Given the description of an element on the screen output the (x, y) to click on. 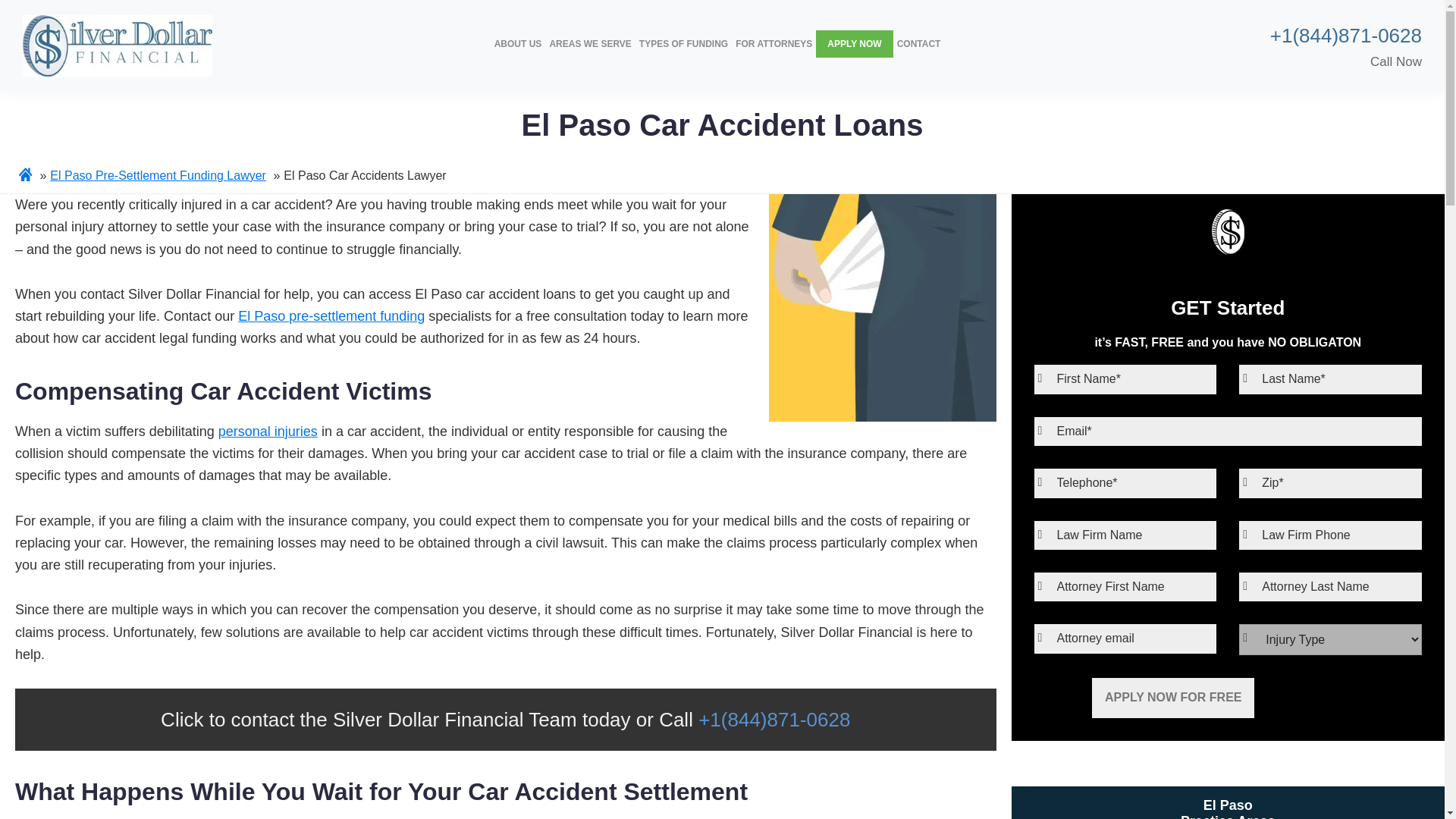
Apply Now For Free (1172, 697)
TYPES OF FUNDING (683, 43)
ABOUT US (518, 43)
AREAS WE SERVE (589, 43)
